Given the description of an element on the screen output the (x, y) to click on. 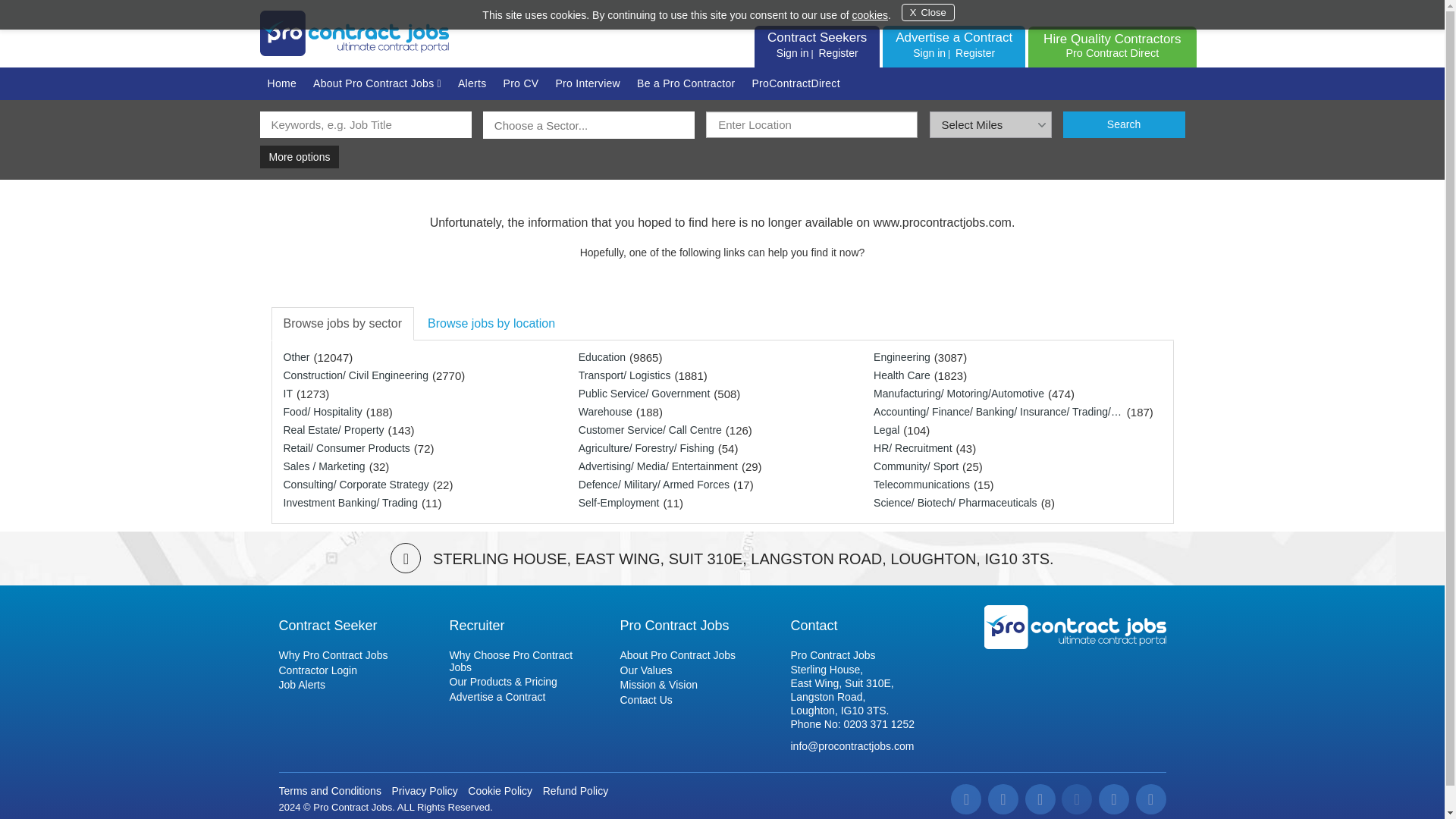
Search (1123, 124)
ProContractDirect (795, 82)
Talenetic (400, 817)
Search (1123, 124)
Pro Contract Jobs (1075, 626)
Contract Seekers (816, 37)
Pro CV (521, 82)
Alerts (472, 82)
Advertise a Contract (953, 37)
Sign in (929, 52)
Register (837, 52)
Register (975, 52)
About Pro Contract Jobs (376, 83)
Sign in (792, 52)
cookies (868, 15)
